Given the description of an element on the screen output the (x, y) to click on. 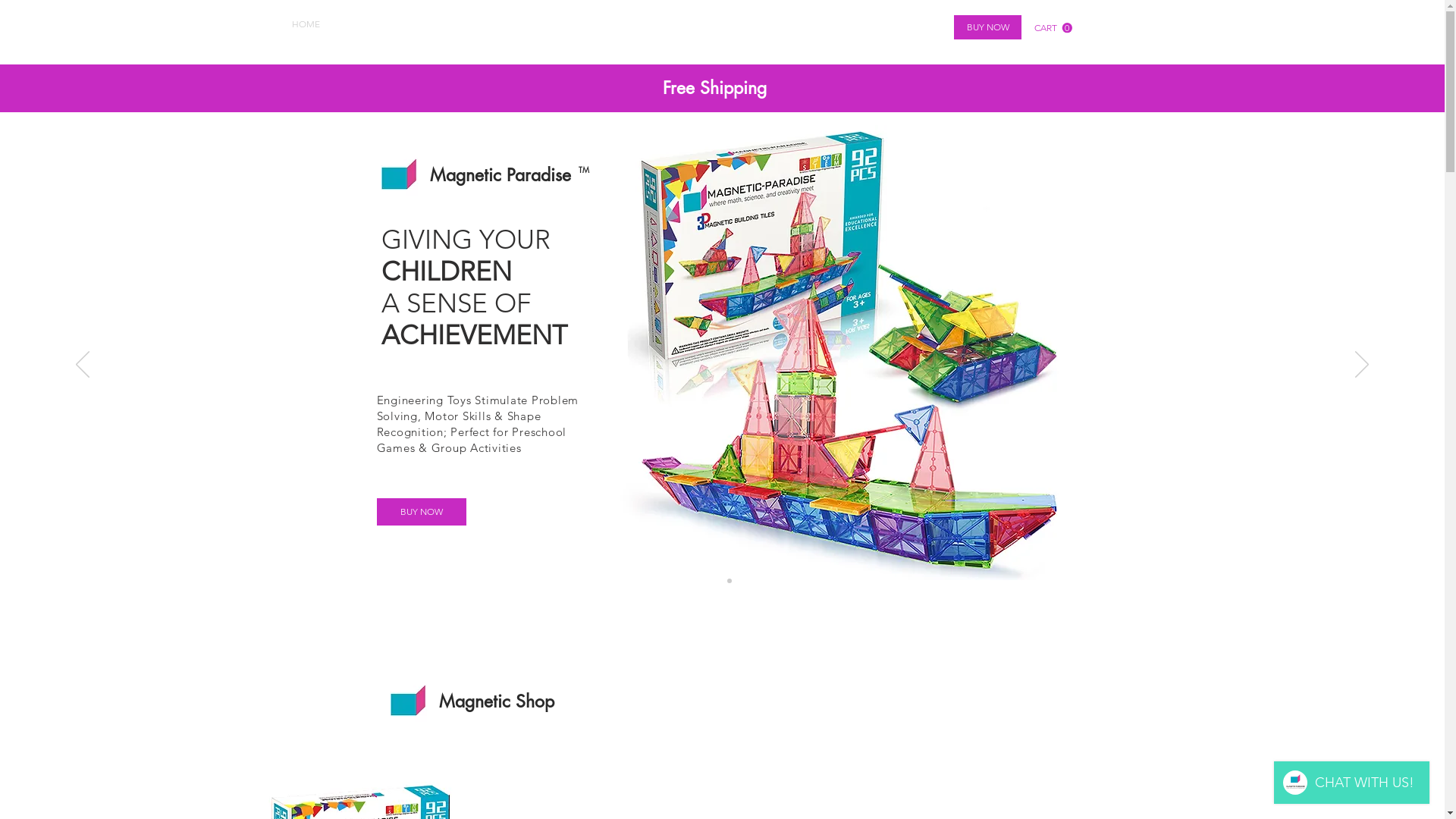
BUY NOW Element type: text (987, 27)
HOME Element type: text (305, 23)
0
CART Element type: text (1053, 27)
BUY NOW Element type: text (420, 511)
